Given the description of an element on the screen output the (x, y) to click on. 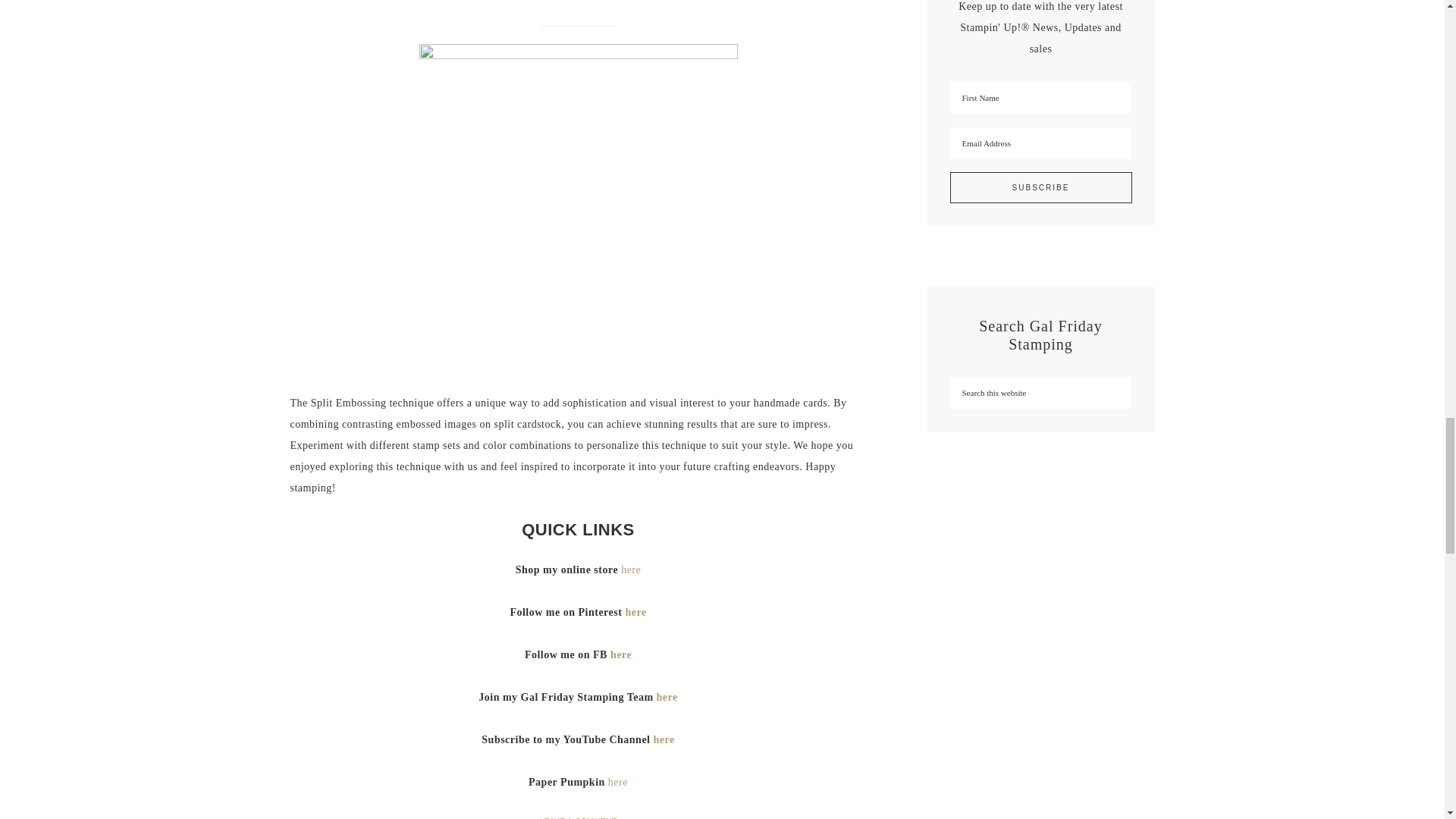
Subscribe (1040, 187)
here (620, 654)
here (667, 696)
here (664, 739)
March 11 Mystery Card (577, 4)
here (635, 612)
LEAVE A COMMENT (578, 818)
here (617, 781)
